Given the description of an element on the screen output the (x, y) to click on. 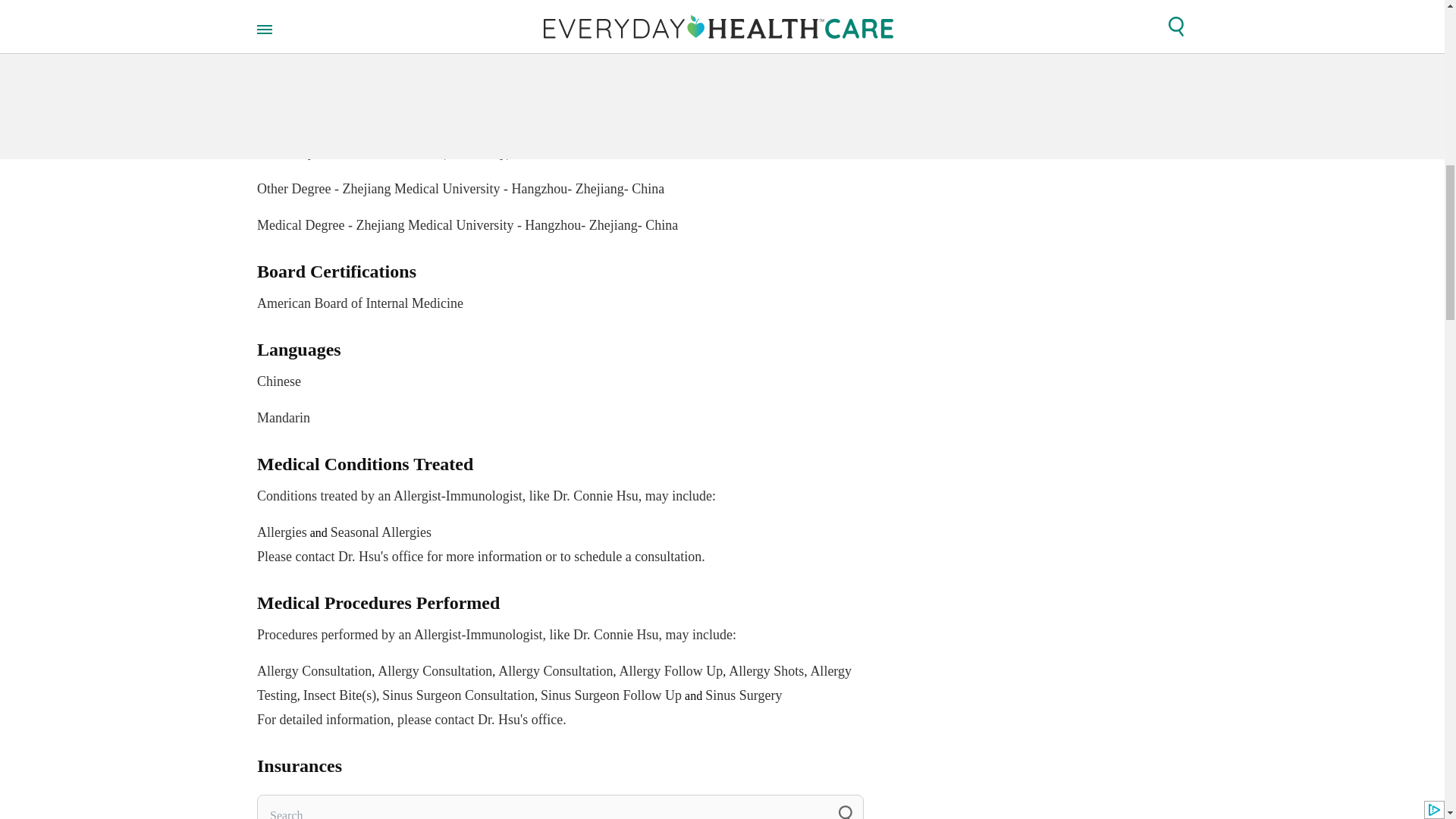
Allergy Consultation (314, 670)
Sinus Surgeon Consultation (457, 694)
Seasonal Allergies (380, 531)
Allergy Consultation (554, 670)
Allergy Shots (766, 670)
Allergy Testing (554, 682)
Sinus Surgery (742, 694)
Allergy Follow Up (560, 288)
